Given the description of an element on the screen output the (x, y) to click on. 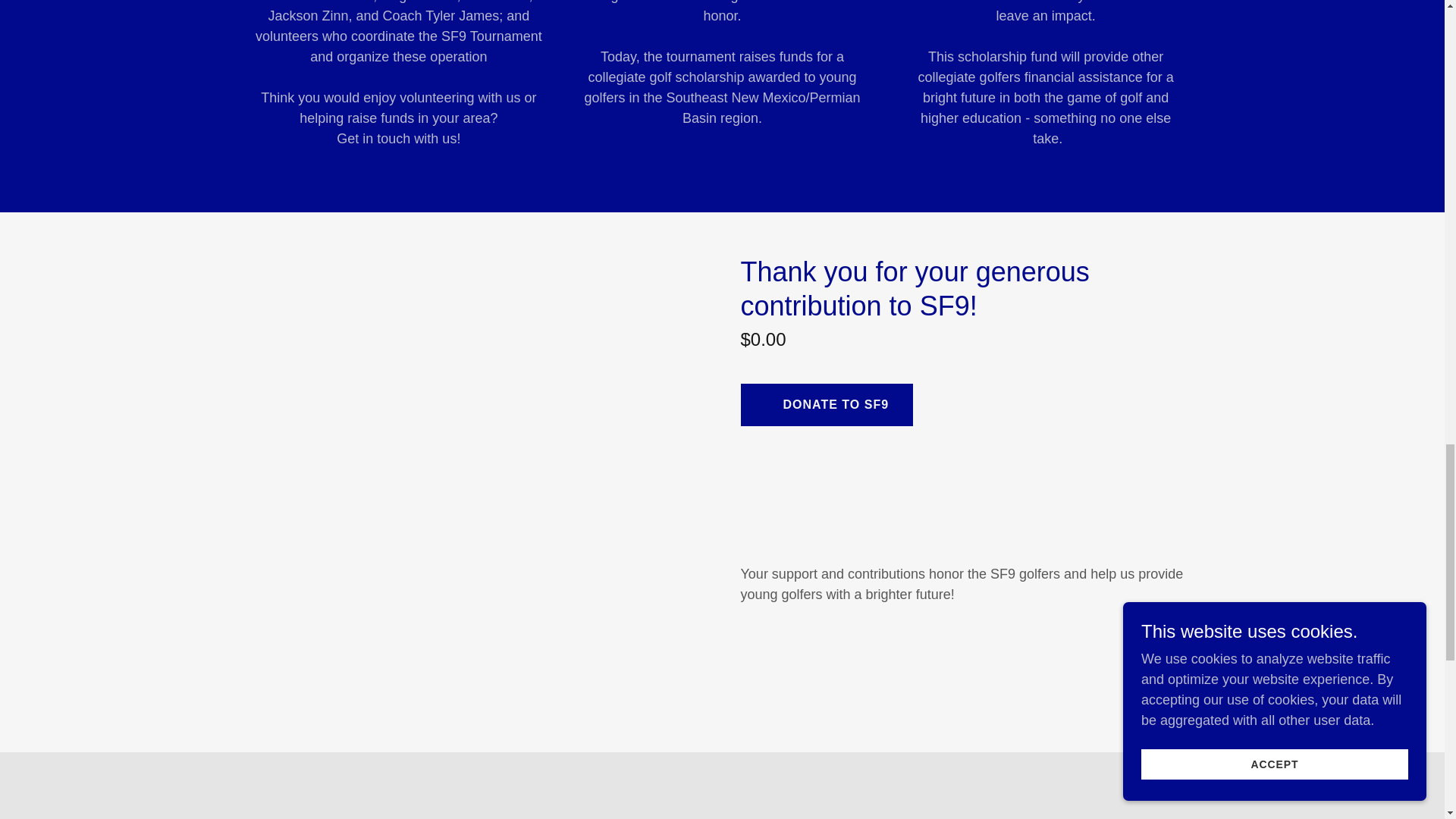
DONATE TO SF9 (825, 404)
